Given the description of an element on the screen output the (x, y) to click on. 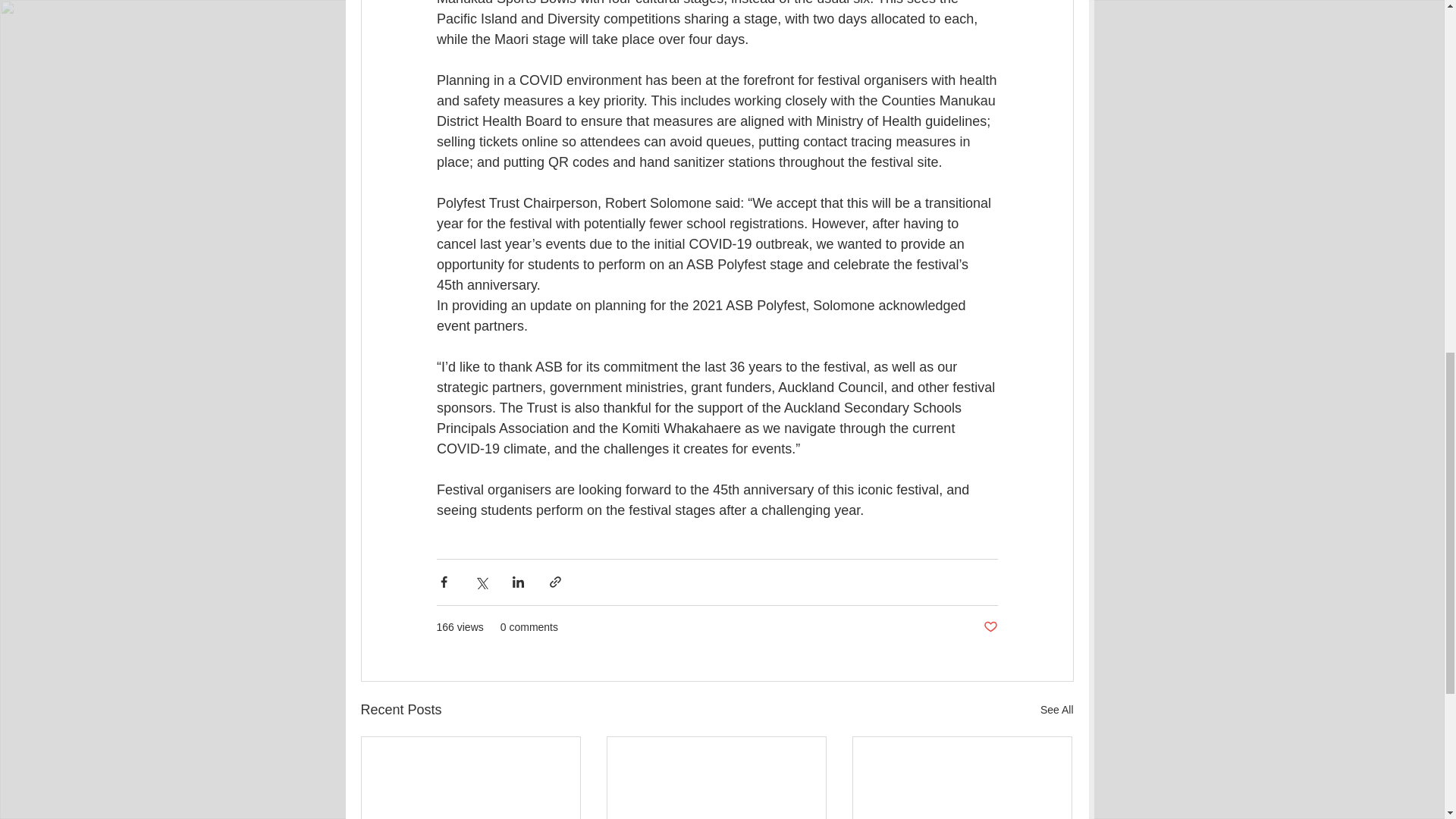
See All (1057, 710)
Post not marked as liked (989, 627)
